Given the description of an element on the screen output the (x, y) to click on. 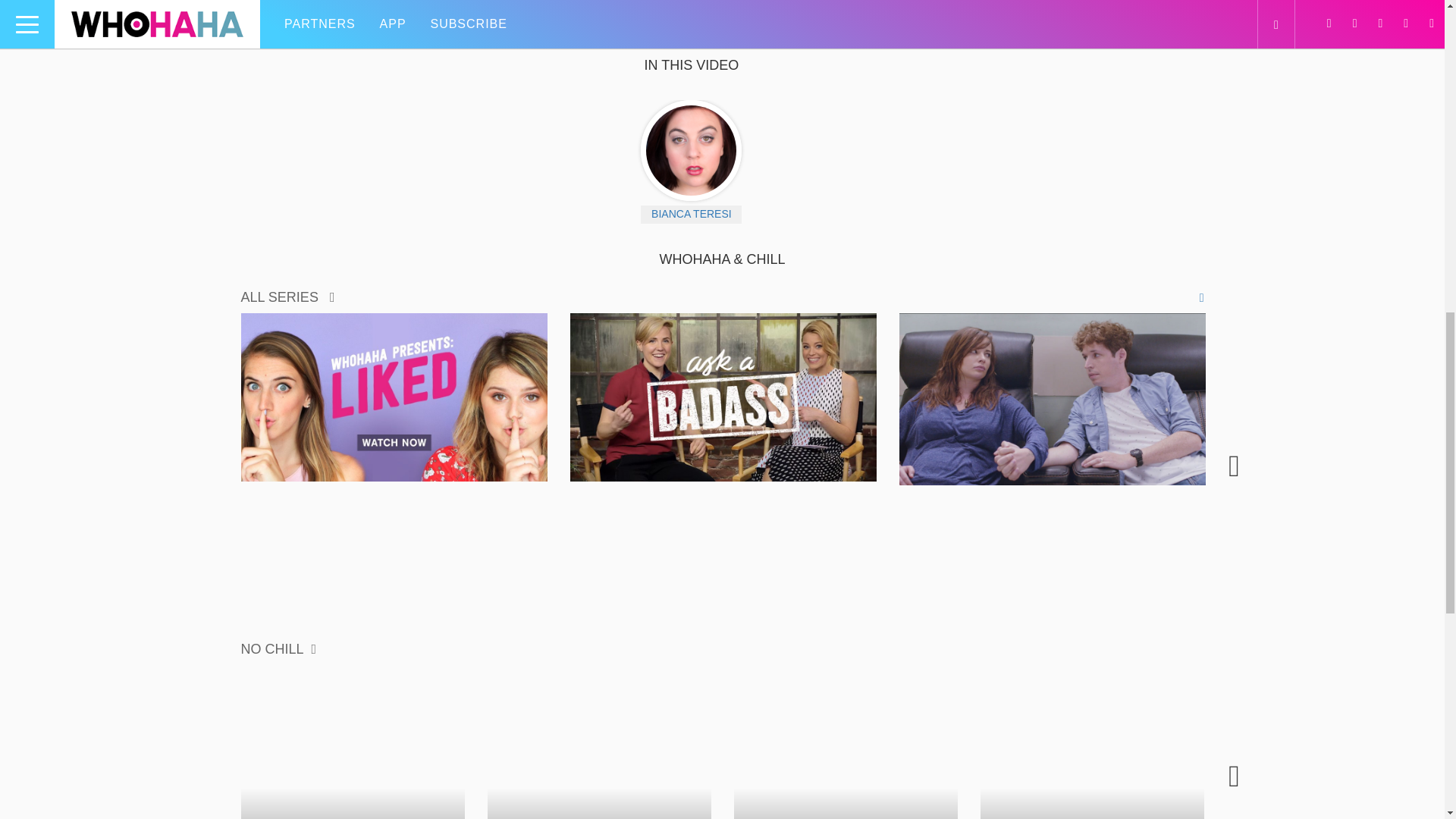
BIANCA TERESI (690, 214)
